Given the description of an element on the screen output the (x, y) to click on. 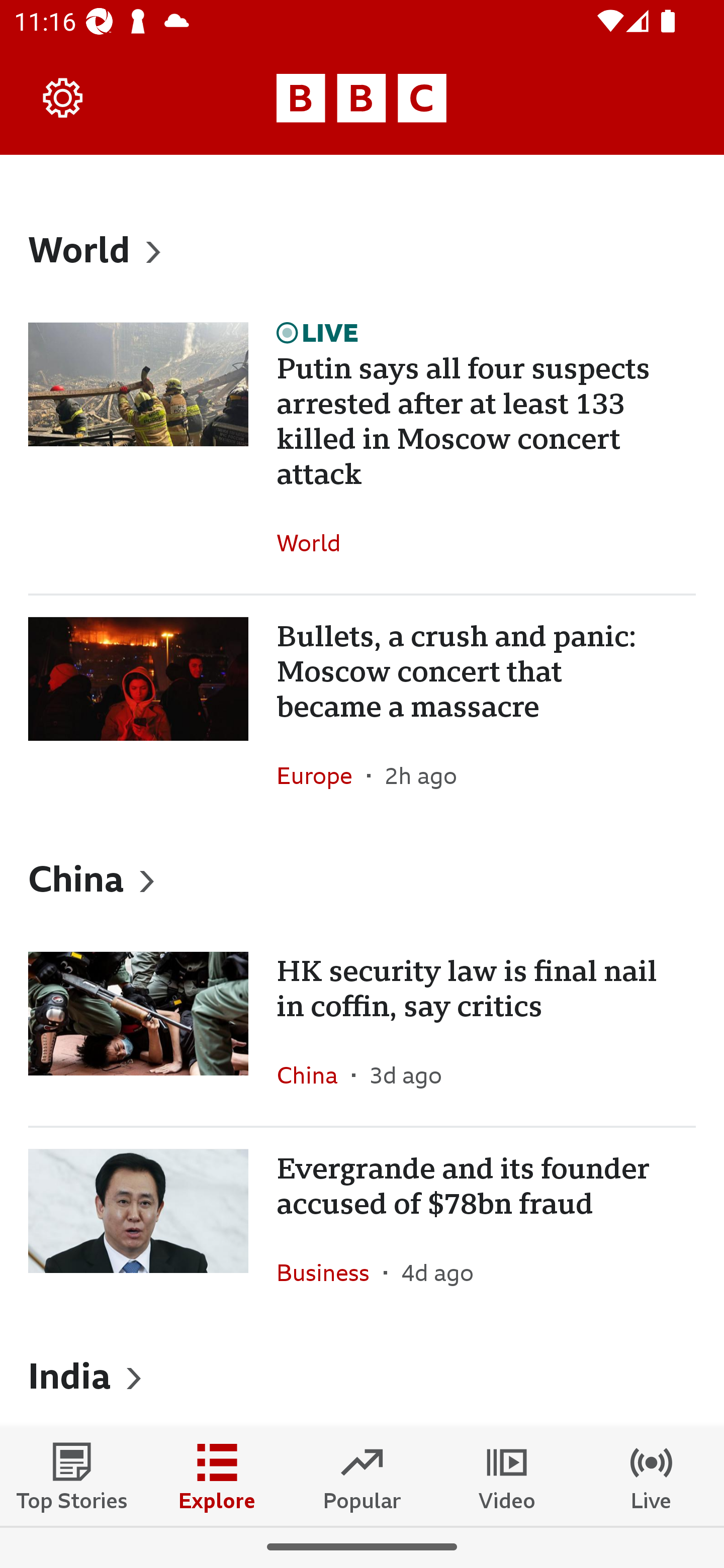
Settings (63, 97)
World, Heading World    (361, 249)
World In the section World (315, 543)
Europe In the section Europe (321, 775)
China, Heading China    (361, 877)
China In the section China (313, 1074)
Business In the section Business (329, 1272)
India, Heading India    (361, 1374)
Top Stories (72, 1475)
Popular (361, 1475)
Video (506, 1475)
Live (651, 1475)
